Given the description of an element on the screen output the (x, y) to click on. 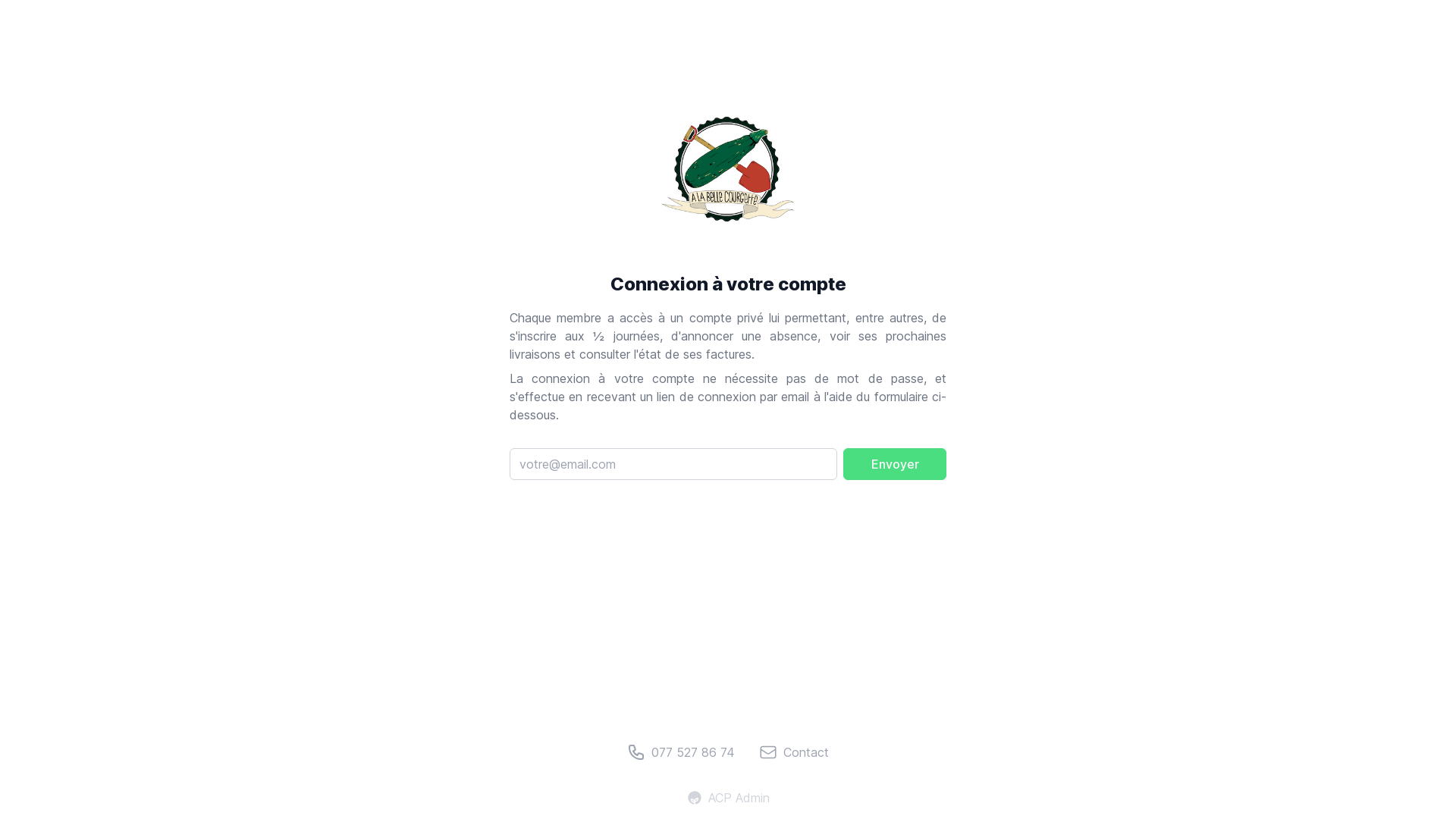
Contact Element type: text (793, 752)
077 527 86 74 Element type: text (680, 752)
ACP Admin Element type: text (728, 797)
Envoyer Element type: text (894, 464)
